Given the description of an element on the screen output the (x, y) to click on. 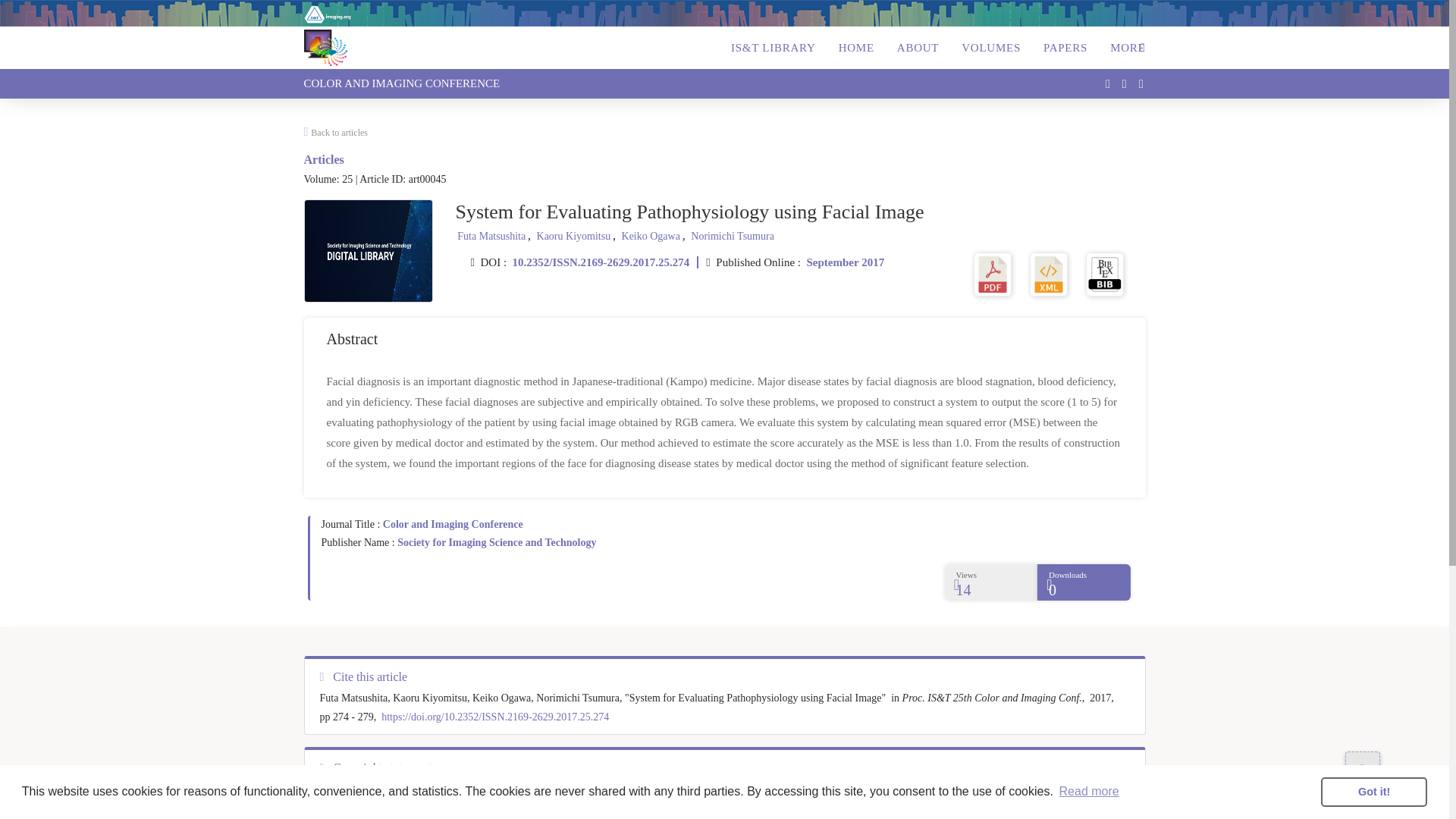
Read more (1089, 791)
No article cover image (368, 250)
Download XML (1048, 273)
Download PDF (992, 273)
VOLUMES (990, 47)
HOME (856, 47)
MORE (1123, 47)
ABOUT (917, 47)
Got it! (1373, 791)
Download BibTeX (1105, 273)
